Given the description of an element on the screen output the (x, y) to click on. 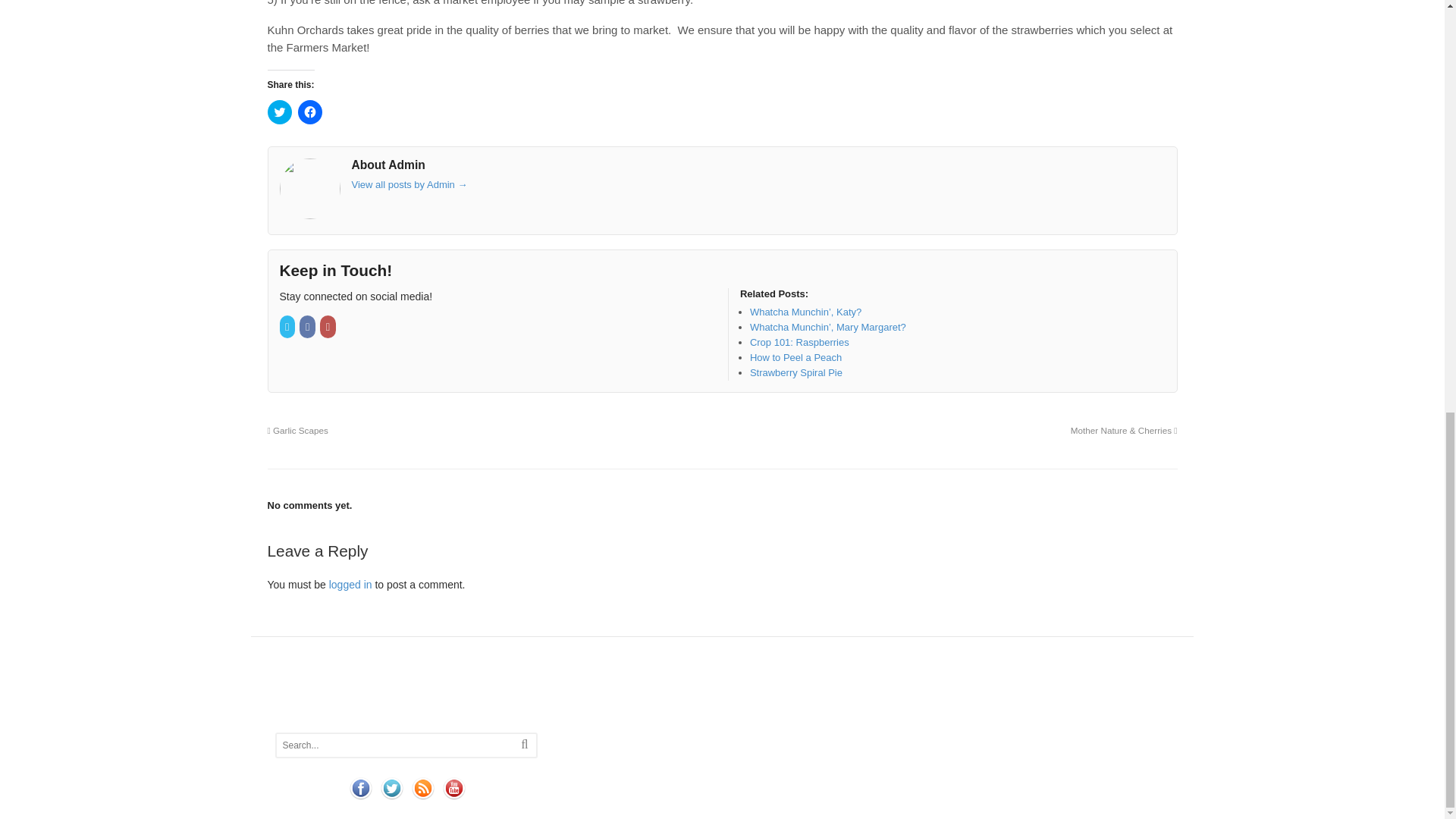
Click to share on Facebook (309, 111)
Facebook (308, 326)
Search... (392, 744)
Twitter (288, 326)
YouTube (328, 326)
Click to share on Twitter (278, 111)
